Given the description of an element on the screen output the (x, y) to click on. 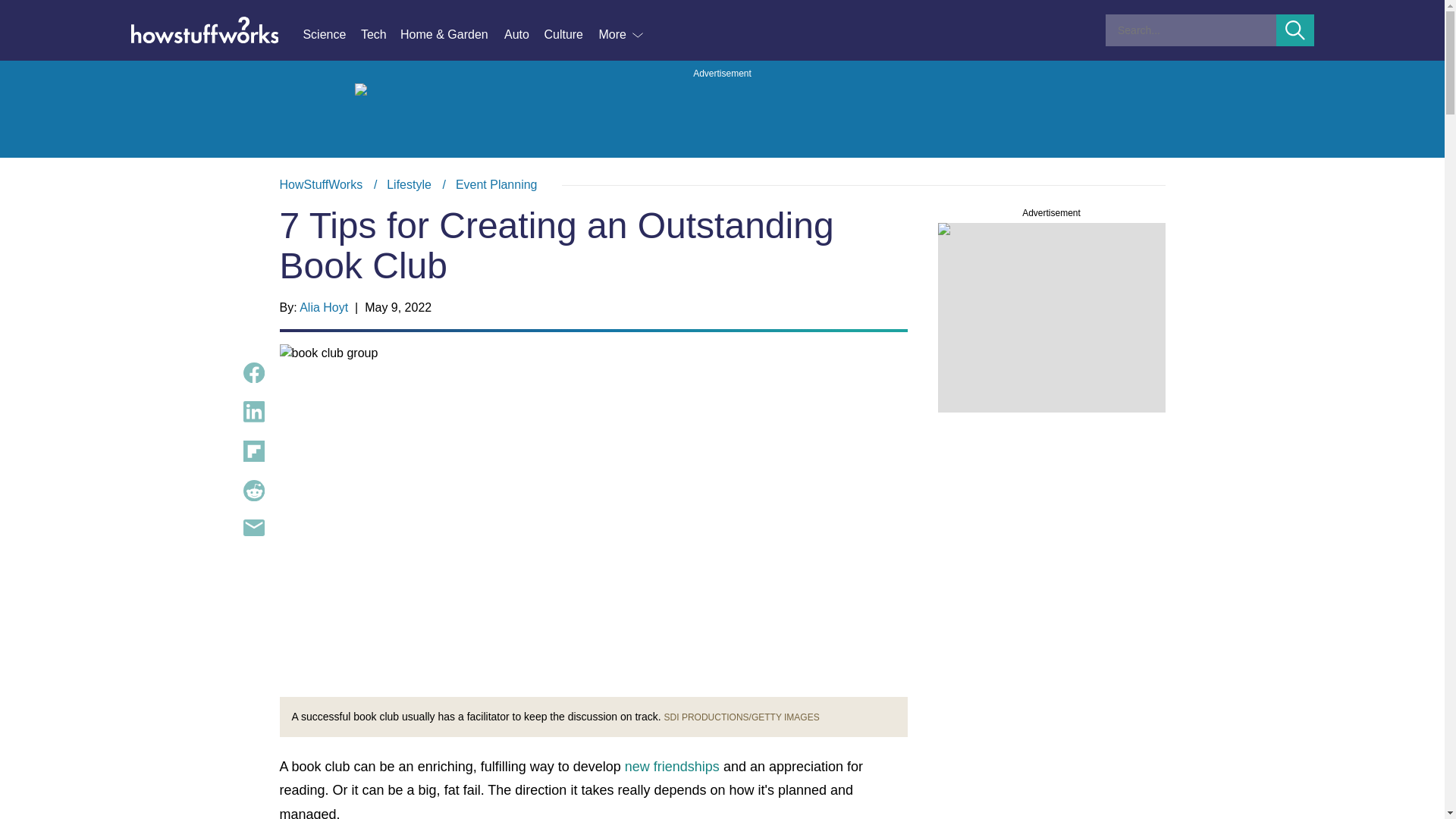
Science (330, 34)
Alia Hoyt (323, 307)
Auto (523, 34)
Share Content on Facebook (253, 372)
Tech (380, 34)
Share Content on Reddit (253, 490)
Lifestyle (408, 184)
HowStuffWorks (320, 184)
Share Content on Flipboard (253, 450)
Culture (721, 185)
Share Content on LinkedIn (570, 34)
Submit Search (253, 411)
Share Content via Email (1295, 29)
More (253, 527)
